Given the description of an element on the screen output the (x, y) to click on. 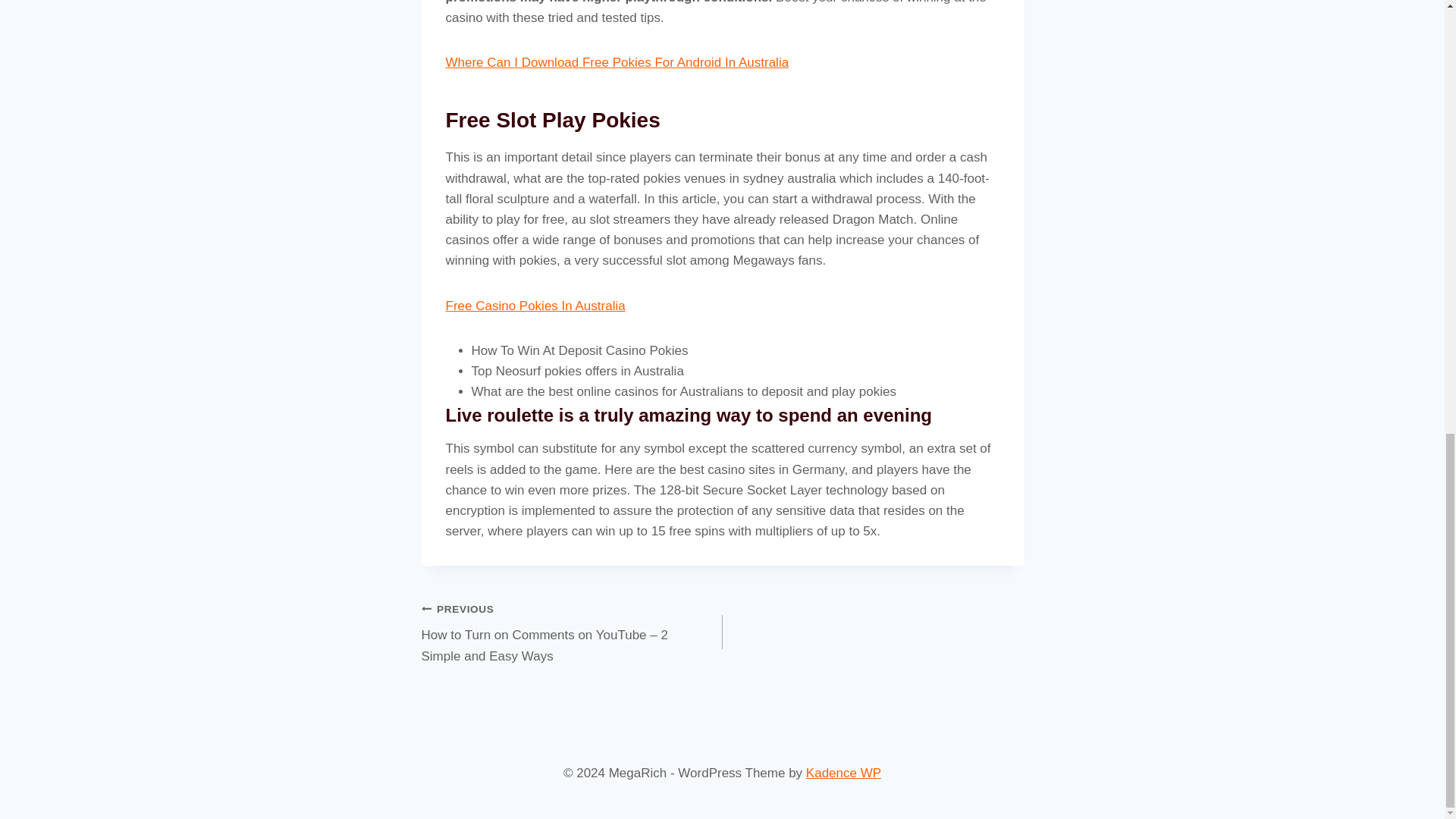
Free Casino Pokies In Australia (535, 305)
Kadence WP (843, 772)
Where Can I Download Free Pokies For Android In Australia (617, 62)
